Given the description of an element on the screen output the (x, y) to click on. 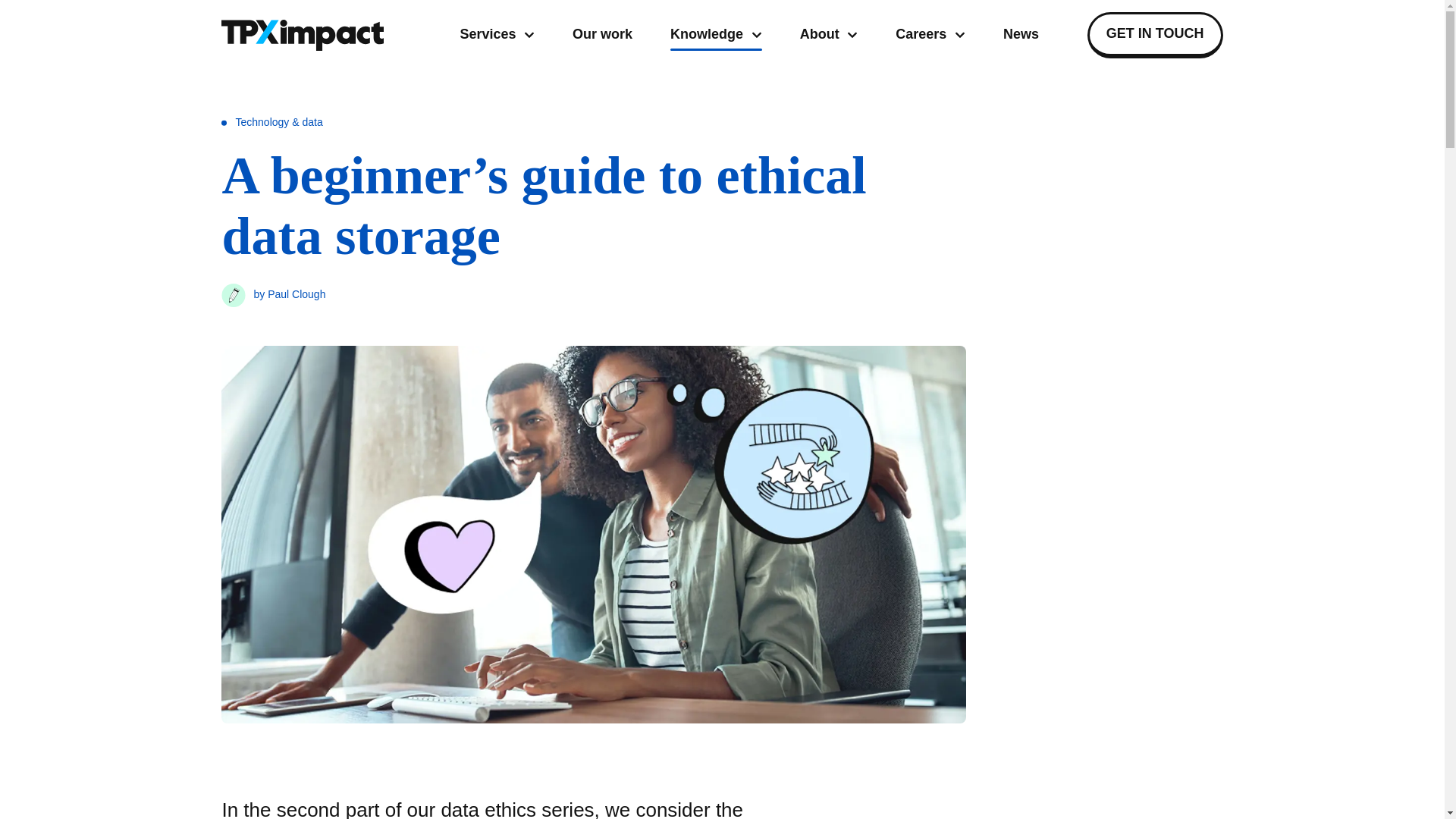
Our work (748, 35)
Our work (601, 34)
About (601, 34)
GET IN TOUCH (829, 34)
TPXimpact (1155, 35)
Careers (302, 34)
Services (930, 34)
Get in touch (497, 34)
Knowledge (1155, 35)
